Given the description of an element on the screen output the (x, y) to click on. 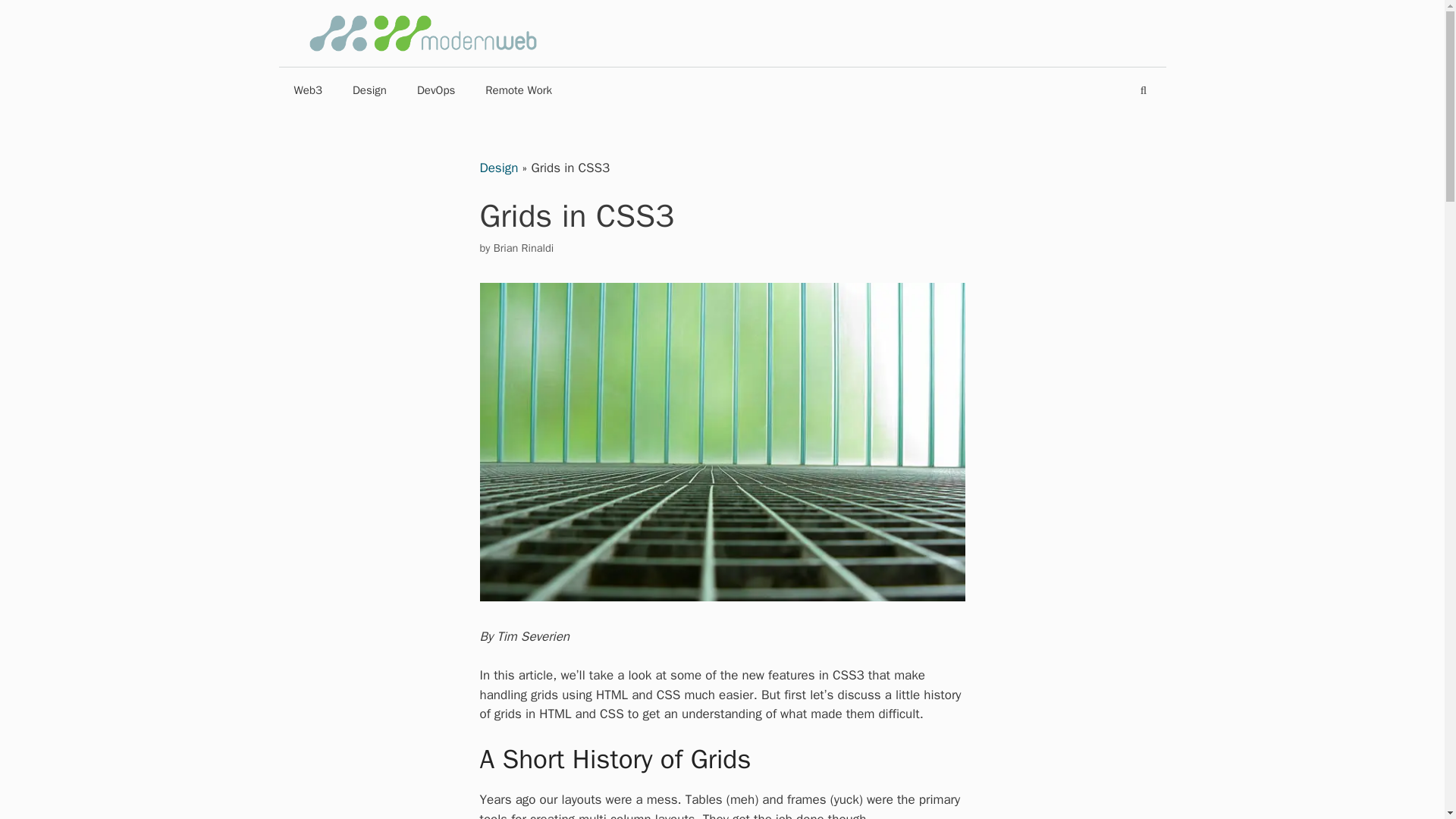
Web3 (308, 90)
Remote Work (518, 90)
Design (369, 90)
Design (498, 167)
DevOps (435, 90)
